Given the description of an element on the screen output the (x, y) to click on. 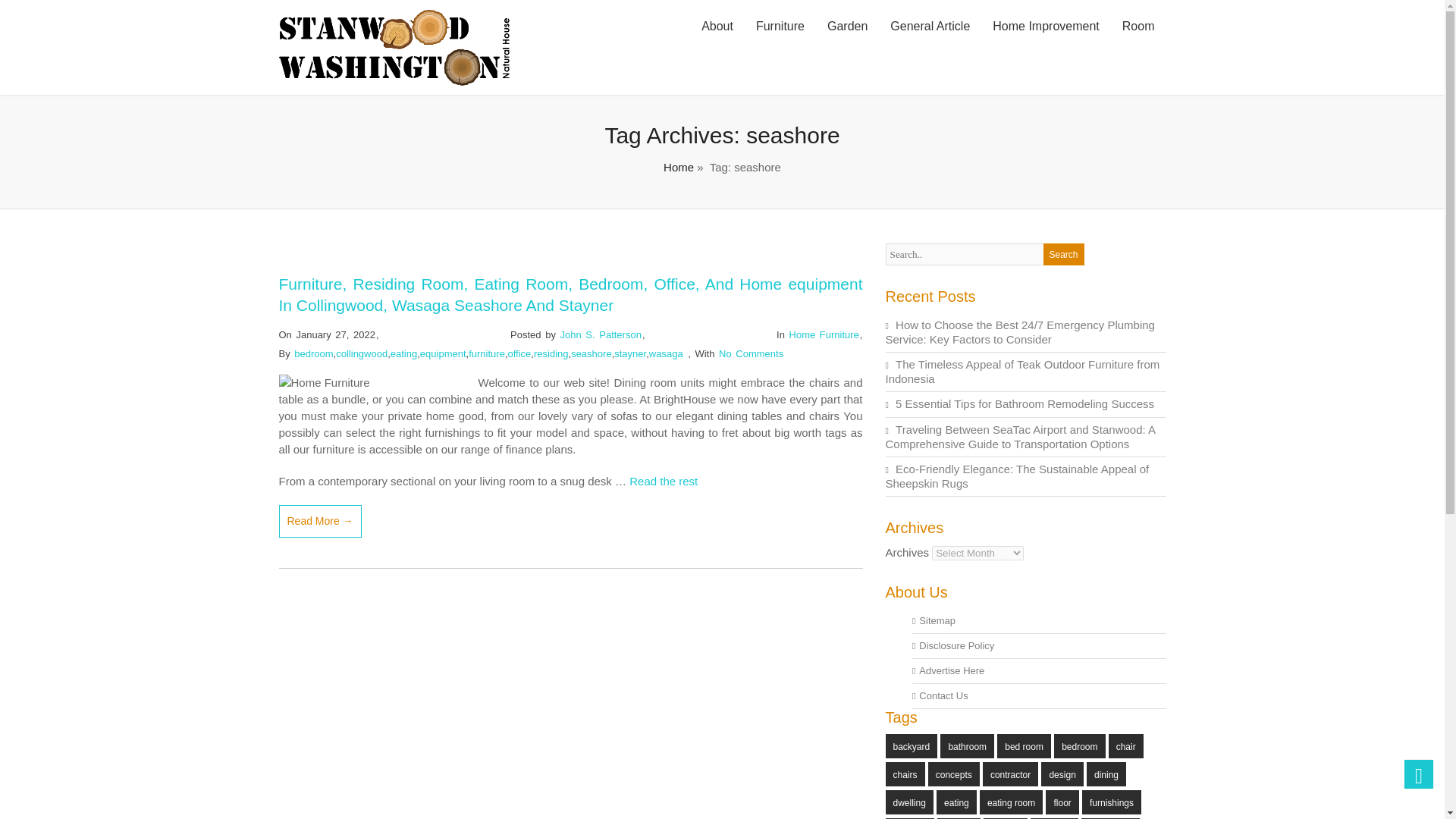
Stanwood Washington (394, 81)
About (717, 26)
Search (1063, 254)
Home Improvement (1045, 26)
Furniture (779, 26)
Room (1138, 26)
Posts by John S. Patterson (601, 334)
General Article (930, 26)
Garden (847, 26)
Back To Top (1418, 774)
